Given the description of an element on the screen output the (x, y) to click on. 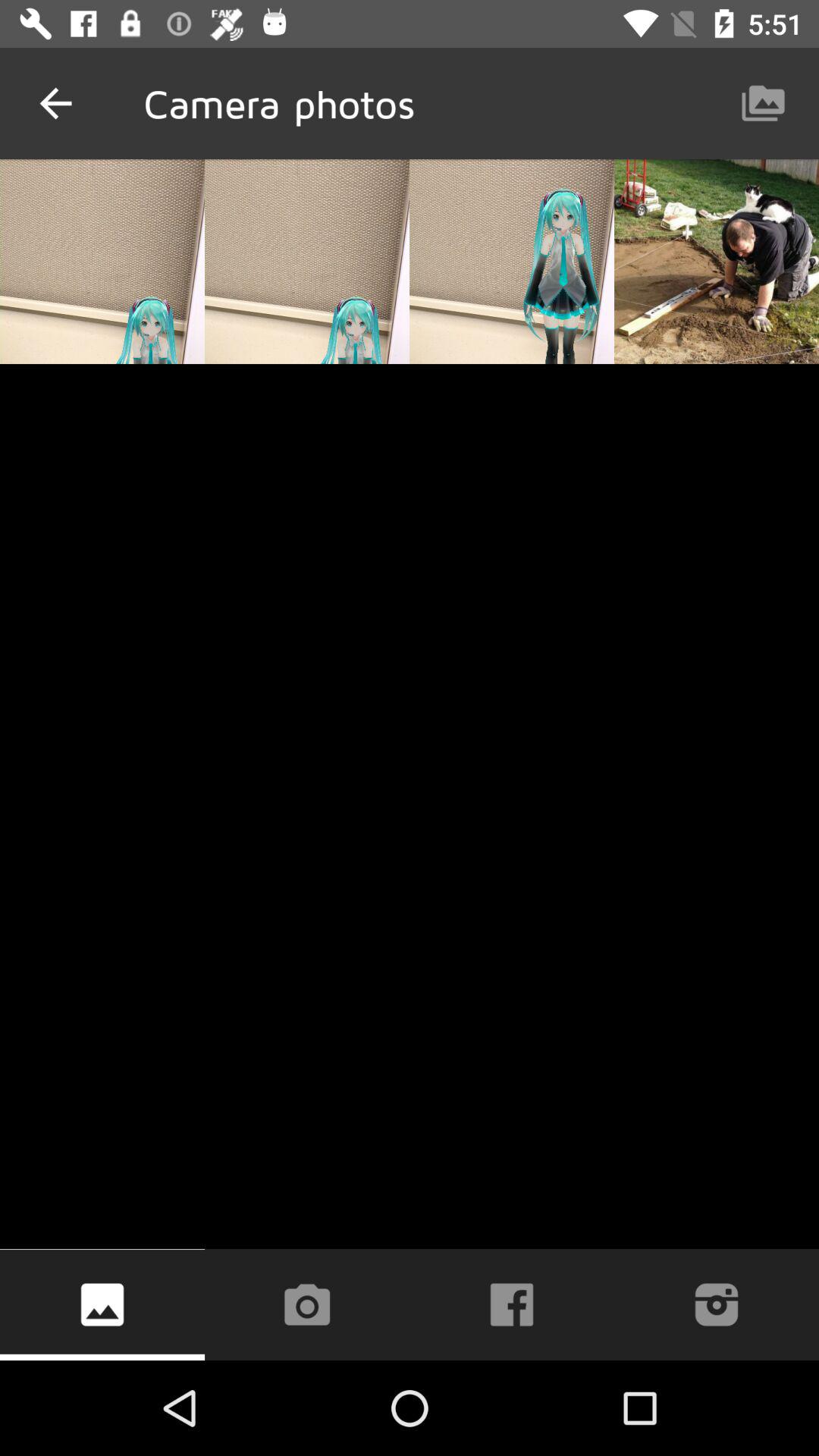
facebook (511, 1304)
